Given the description of an element on the screen output the (x, y) to click on. 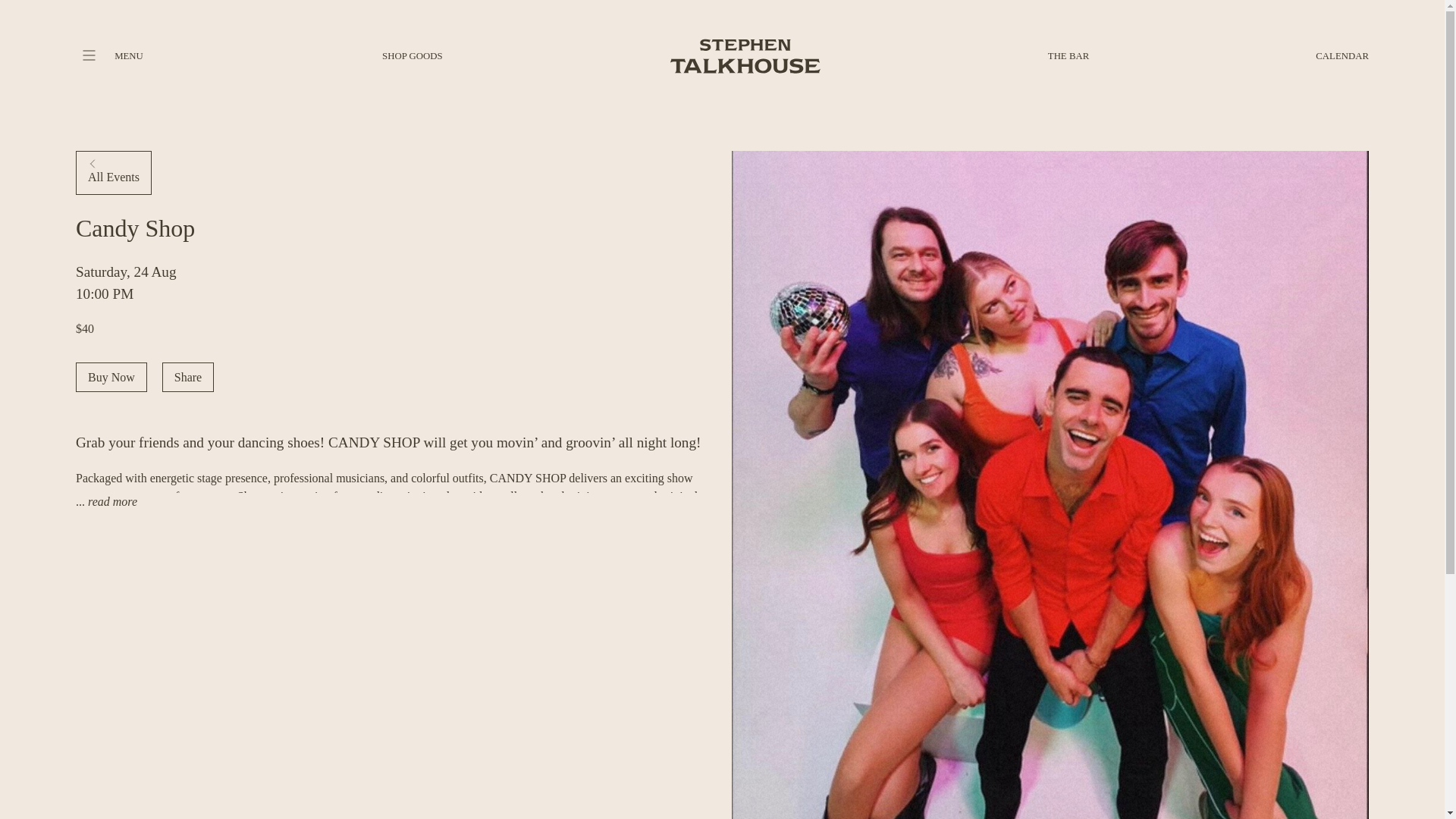
THE BAR (1068, 56)
Share (187, 377)
MENU (128, 56)
CALENDAR (1342, 56)
SHOP GOODS (411, 56)
Buy Now (111, 377)
All Events (113, 172)
